Given the description of an element on the screen output the (x, y) to click on. 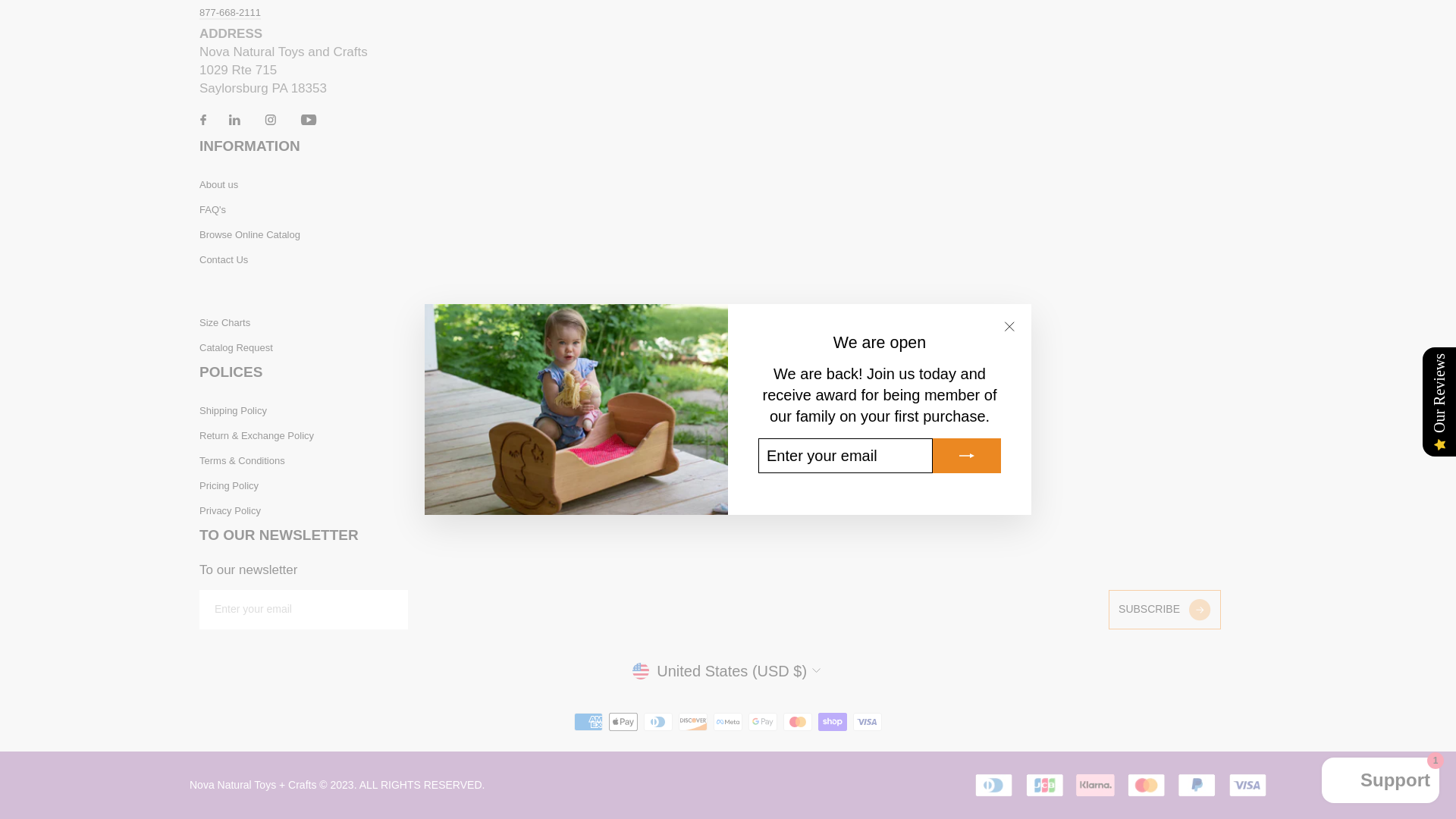
Apple Pay (622, 721)
Google Pay (762, 721)
Discover (692, 721)
American Express (587, 721)
Diners Club (657, 721)
Meta Pay (727, 721)
